Given the description of an element on the screen output the (x, y) to click on. 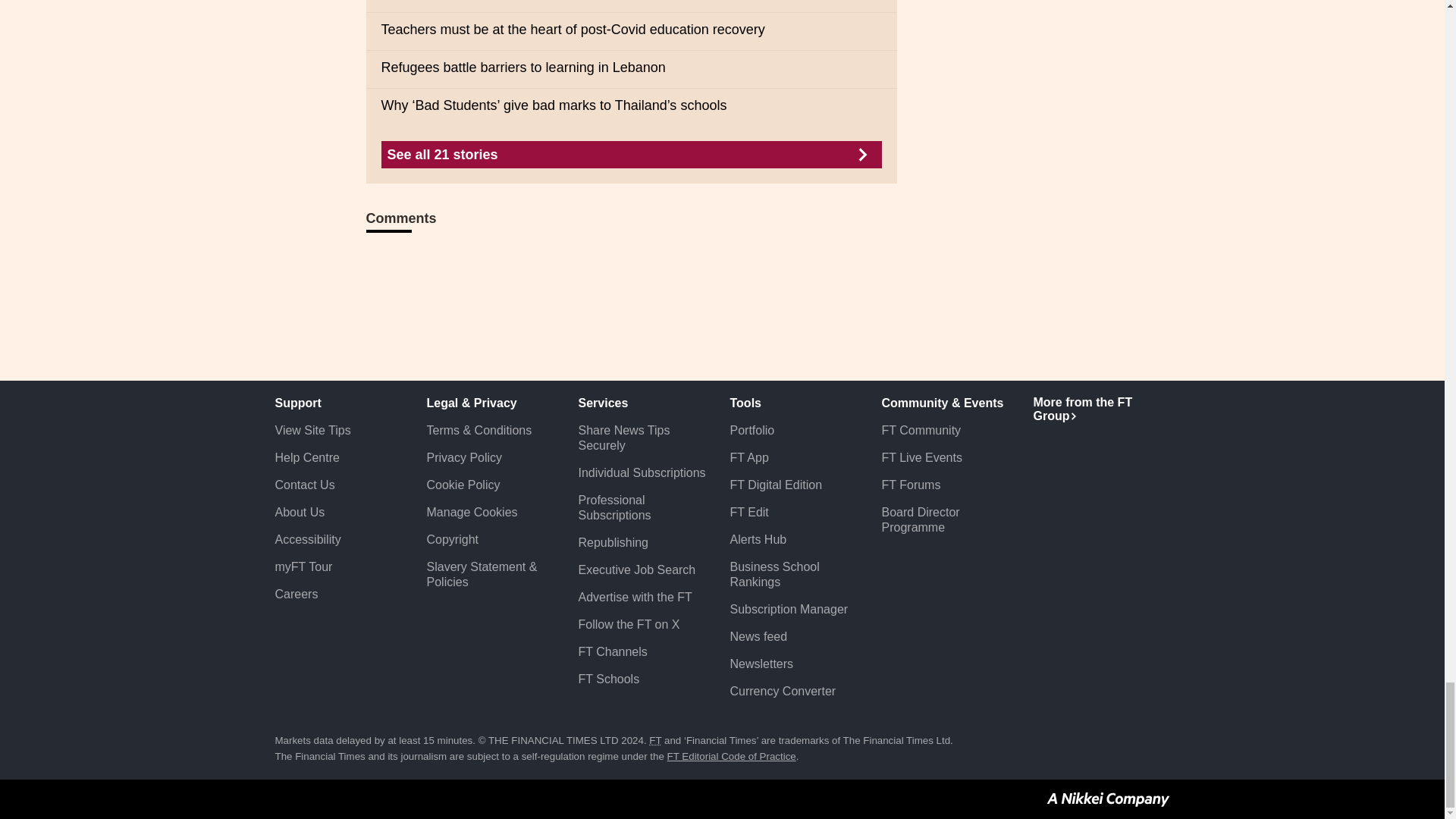
Financial Times (655, 740)
